Given the description of an element on the screen output the (x, y) to click on. 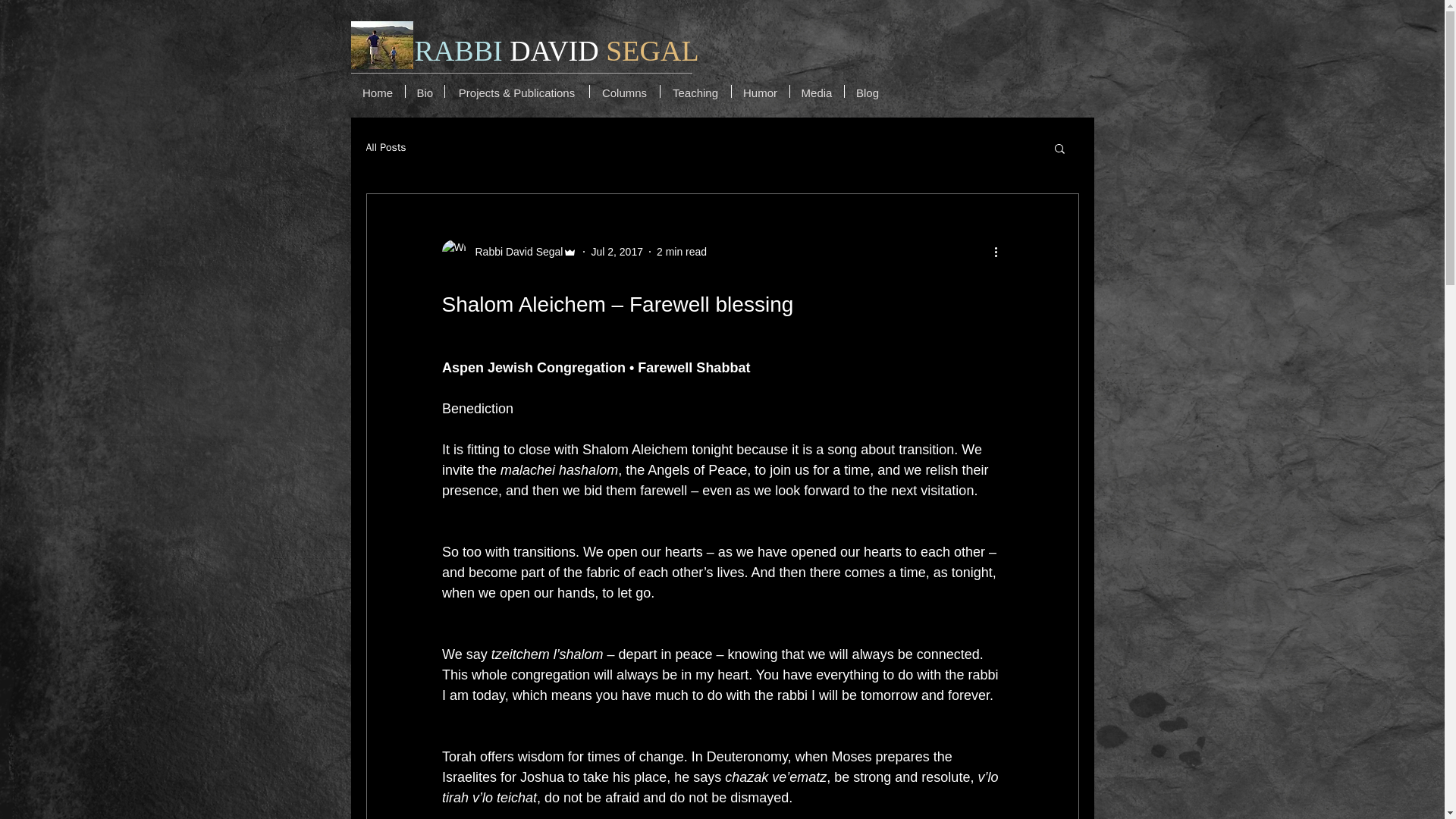
All Posts (385, 147)
Rabbi David Segal (513, 252)
Blog (867, 91)
Humor (759, 91)
Untitled (381, 44)
Rabbi David Segal (508, 251)
Home (377, 91)
Teaching (694, 91)
Media (817, 91)
Jul 2, 2017 (617, 251)
